Given the description of an element on the screen output the (x, y) to click on. 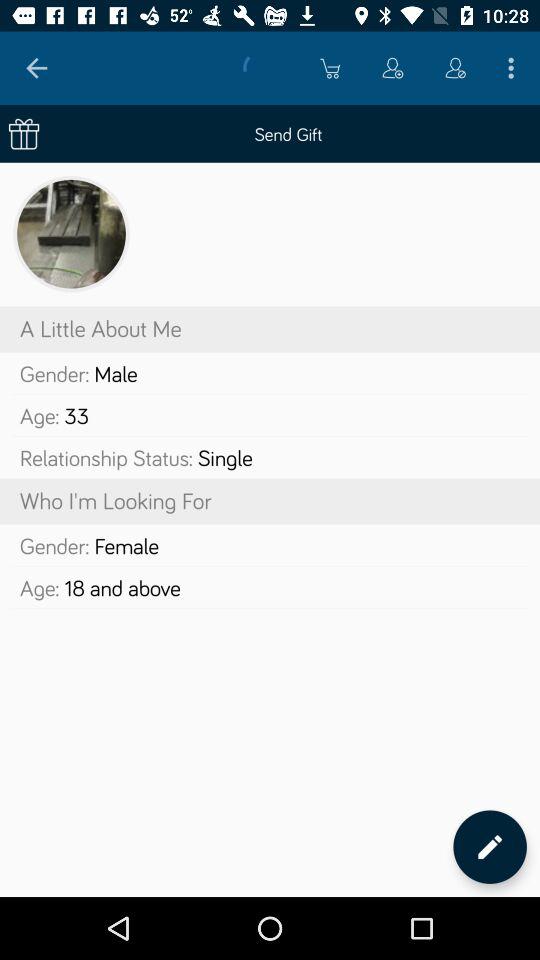
open send gift icon (270, 133)
